Given the description of an element on the screen output the (x, y) to click on. 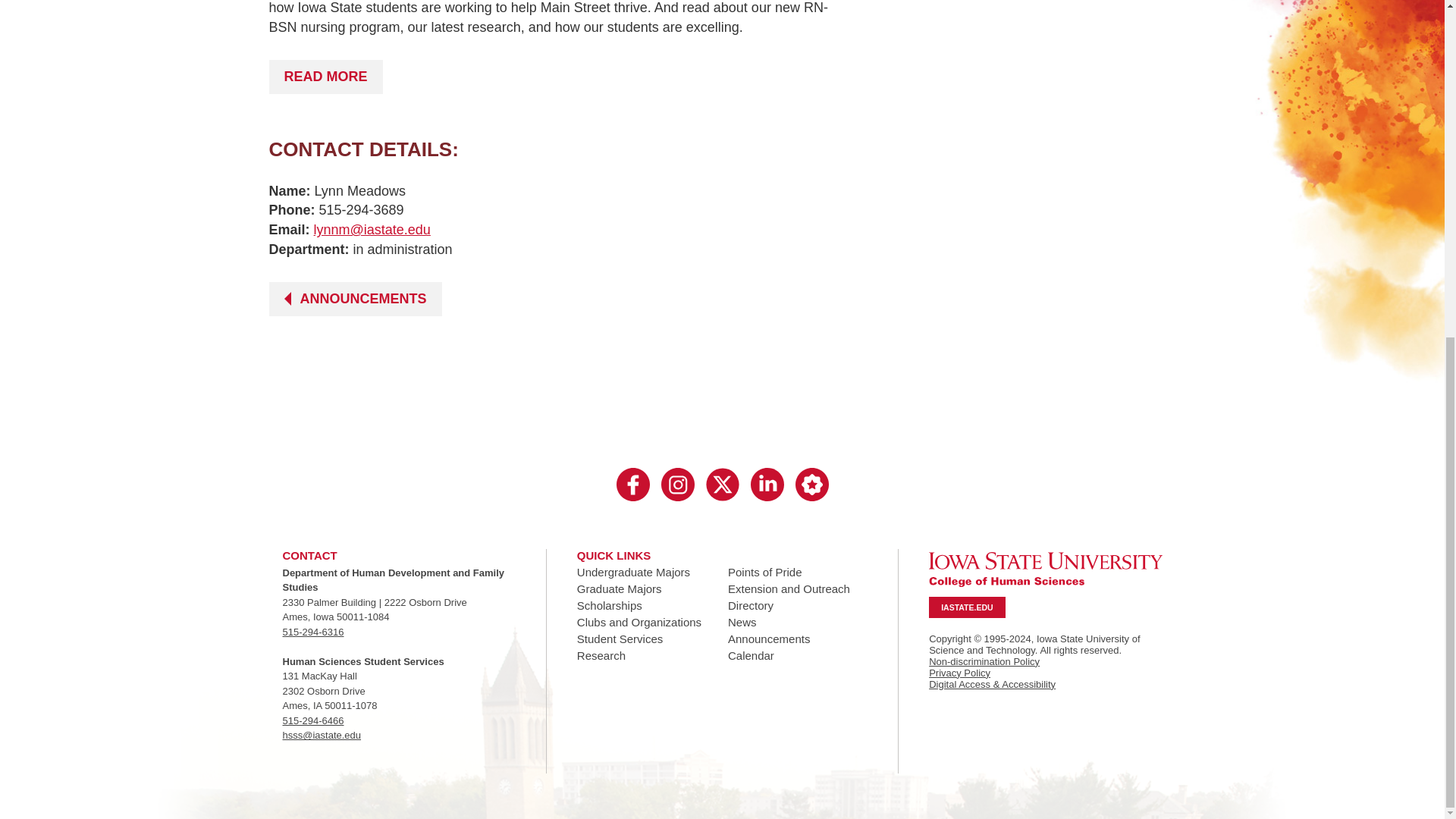
Click to go to www.iastate.edu (1044, 568)
Iowa State University (1044, 569)
Click to visit www.iastate.edu (966, 607)
